Given the description of an element on the screen output the (x, y) to click on. 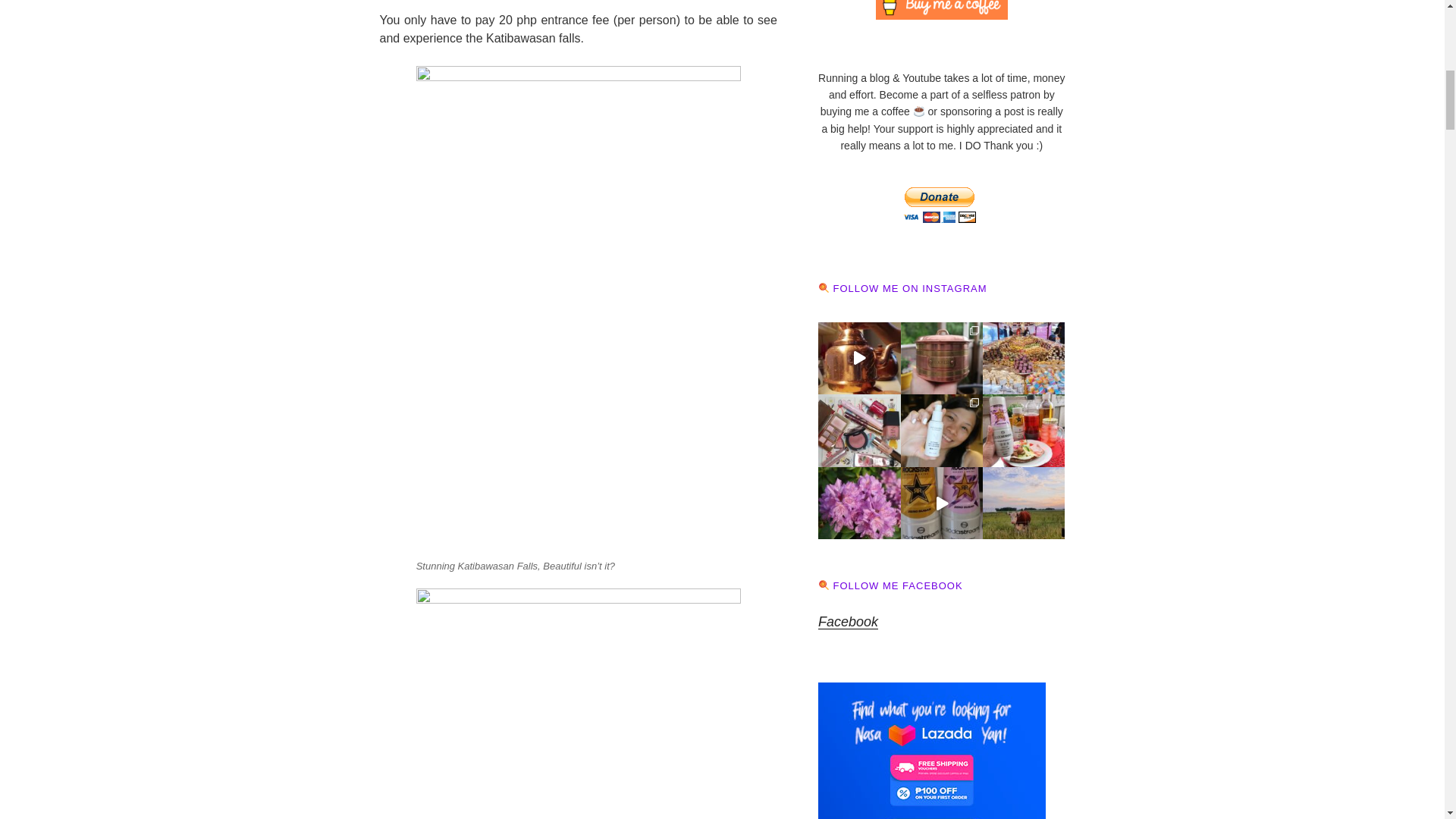
PayPal - The safer, easier way to pay online! (939, 204)
